Given the description of an element on the screen output the (x, y) to click on. 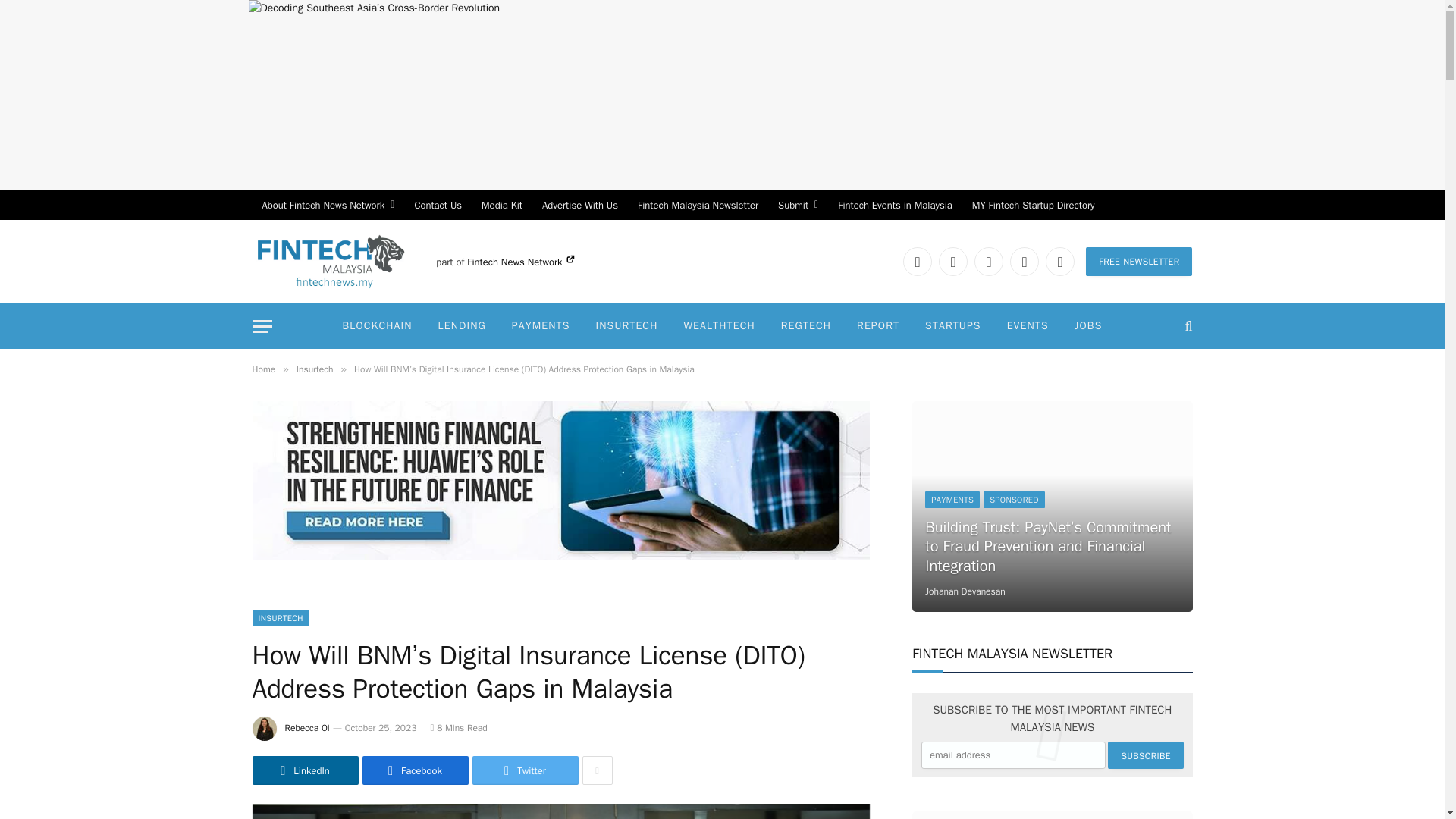
Fintech News Network (520, 261)
Share on LinkedIn (304, 769)
Fintech News Malaysia (330, 261)
Subscribe (1145, 755)
MY Fintech Startup Directory (1033, 204)
Submit (798, 204)
Contact Us (437, 204)
About Fintech News Network (327, 204)
Fintech Events in Malaysia (895, 204)
Advertise With Us (579, 204)
Fintech Malaysia Newsletter (697, 204)
Share on Facebook (415, 769)
Facebook (953, 261)
Show More Social Sharing (597, 769)
LinkedIn (916, 261)
